Given the description of an element on the screen output the (x, y) to click on. 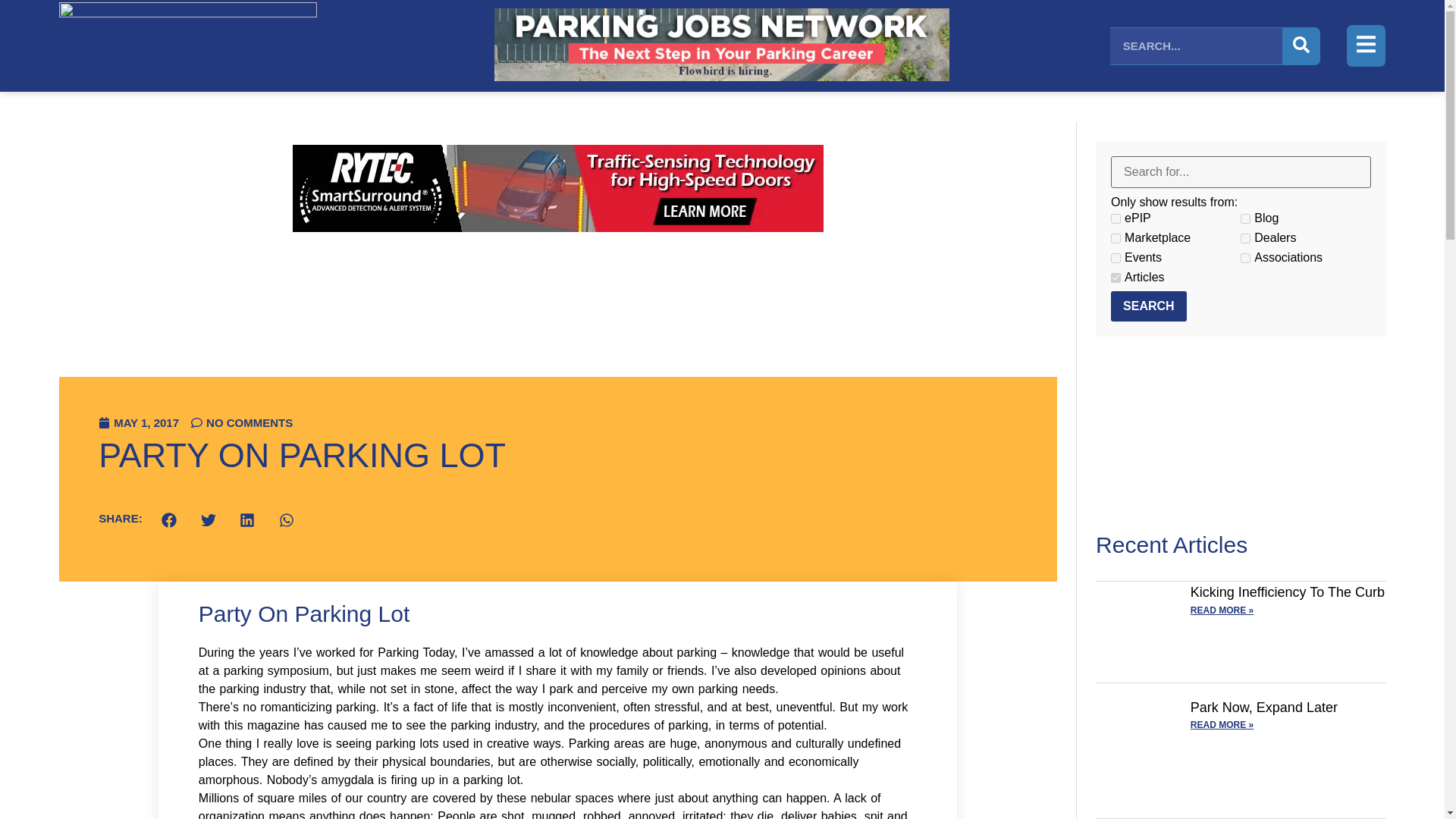
Kicking Inefficiency To The Curb (1287, 591)
NO COMMENTS (241, 422)
Search (1148, 306)
Park Now, Expand Later (1264, 707)
ePIP (1115, 218)
Blog (1245, 218)
Articles (1115, 277)
Events (1115, 257)
Marketplace (1115, 238)
Search (1148, 306)
